Given the description of an element on the screen output the (x, y) to click on. 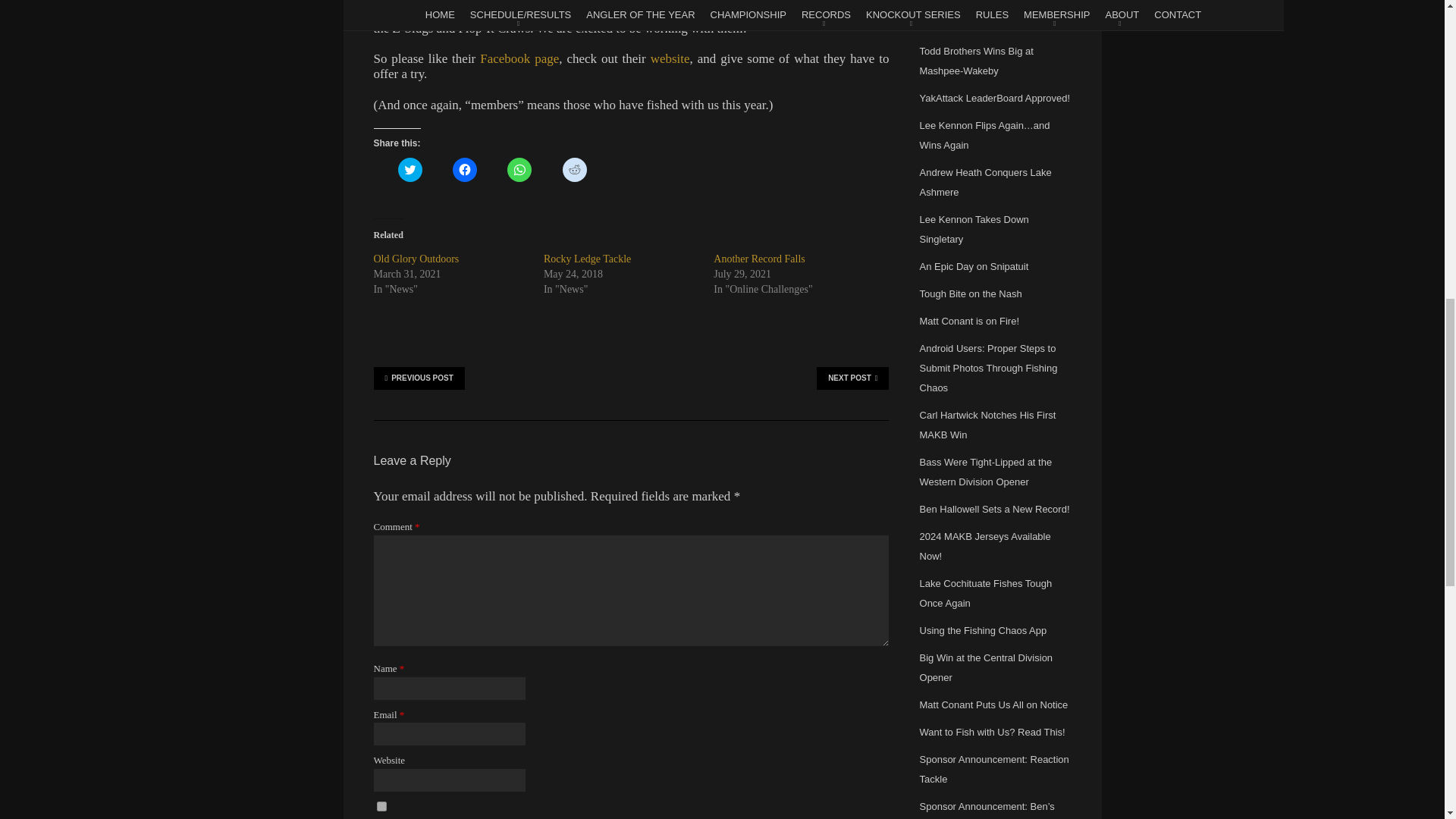
Another Record Falls (759, 258)
Old Glory Outdoors (415, 258)
Click to share on Facebook (464, 169)
Click to share on Twitter (409, 169)
Click to share on Reddit (574, 169)
yes (380, 806)
Click to share on WhatsApp (518, 169)
Rocky Ledge Tackle (586, 258)
